Given the description of an element on the screen output the (x, y) to click on. 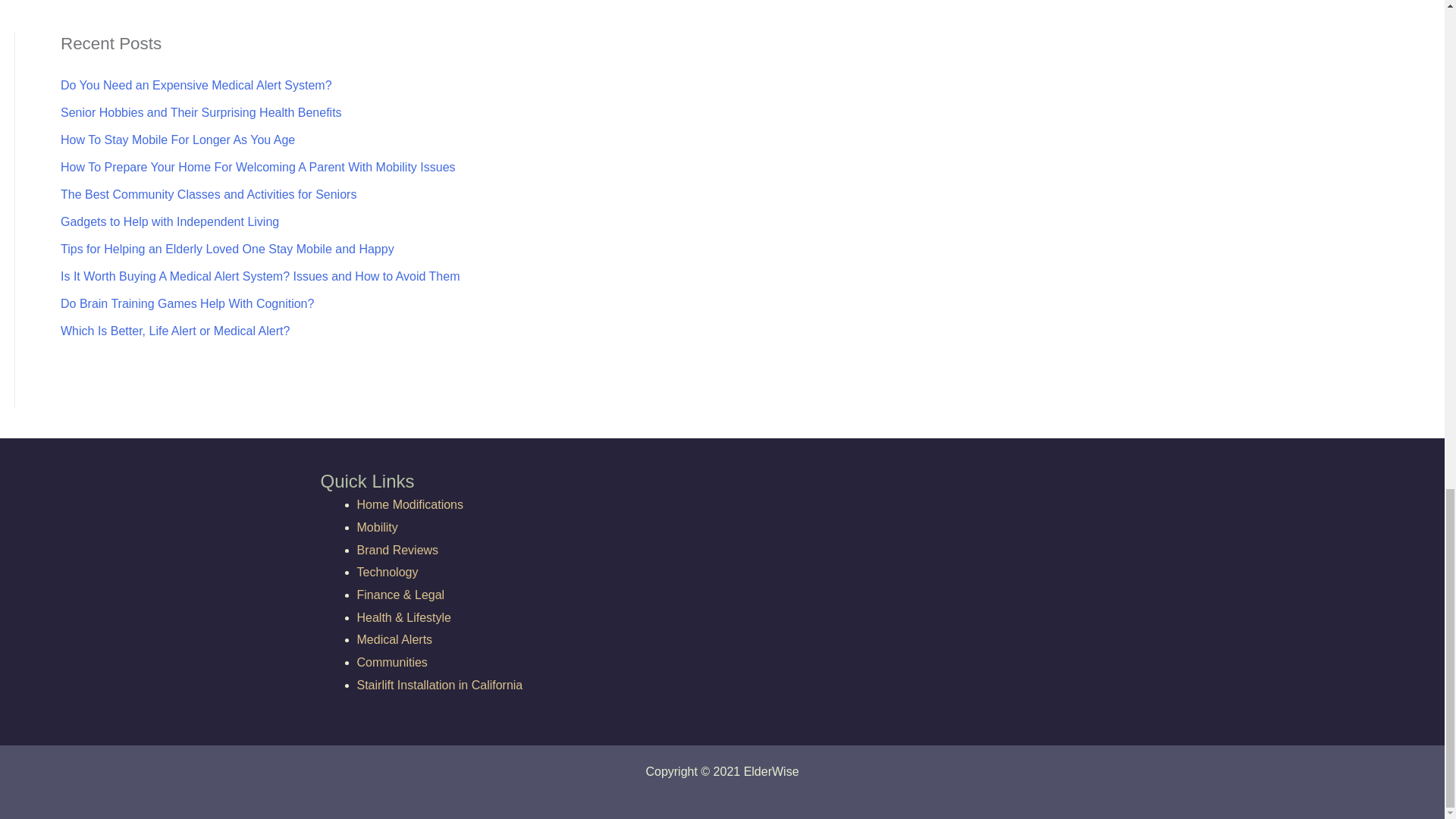
Brand Reviews (397, 549)
Gadgets to Help with Independent Living (170, 221)
The Best Community Classes and Activities for Seniors (208, 194)
Medical Alerts (394, 639)
Stairlift Installation in California (439, 684)
Do Brain Training Games Help With Cognition? (187, 303)
Do You Need an Expensive Medical Alert System? (196, 84)
Communities (391, 662)
How To Stay Mobile For Longer As You Age (178, 139)
